Given the description of an element on the screen output the (x, y) to click on. 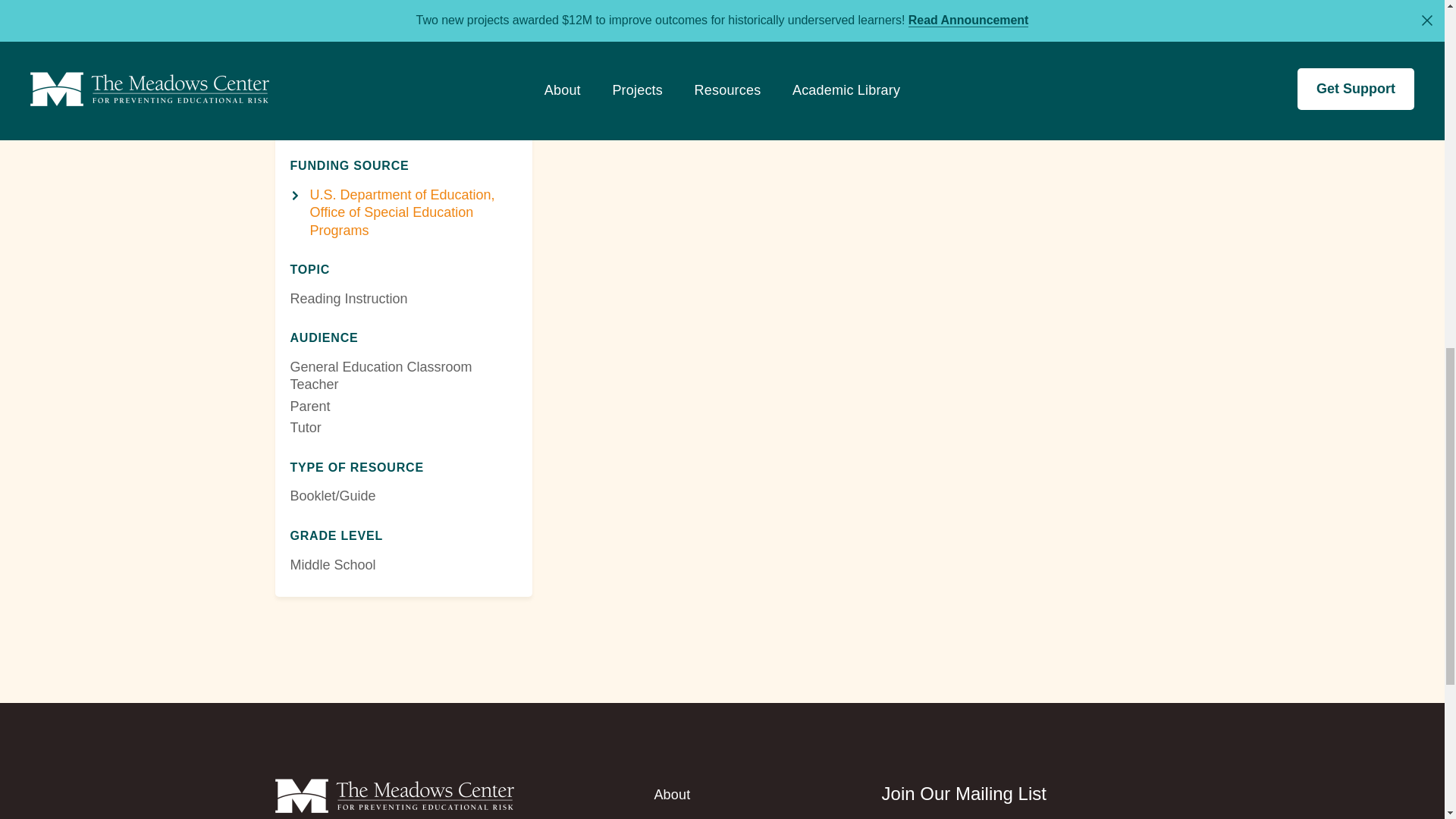
About (671, 794)
